Given the description of an element on the screen output the (x, y) to click on. 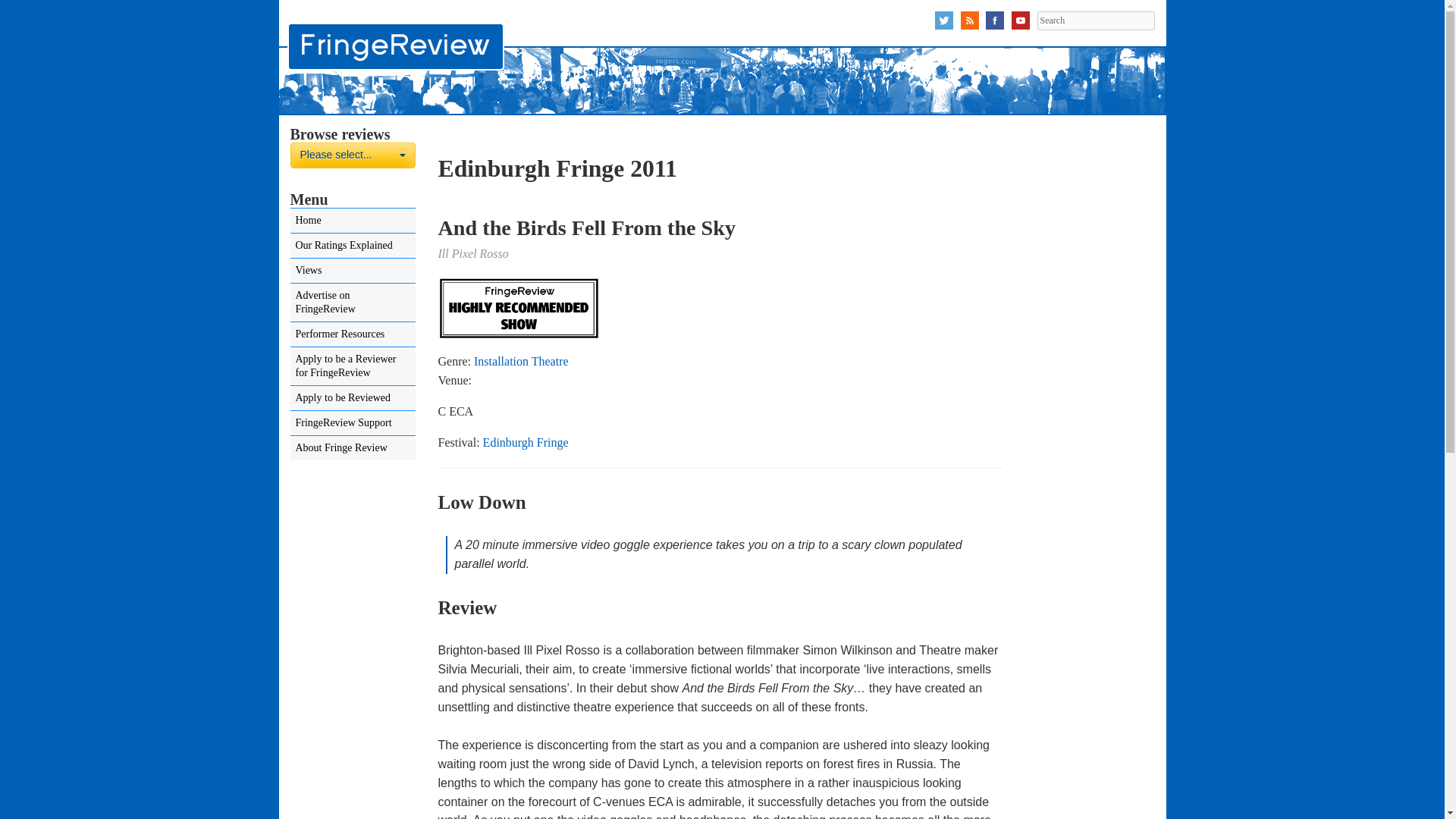
Please select... (351, 155)
Search for: (1095, 20)
Search (1095, 20)
Search (351, 155)
